Given the description of an element on the screen output the (x, y) to click on. 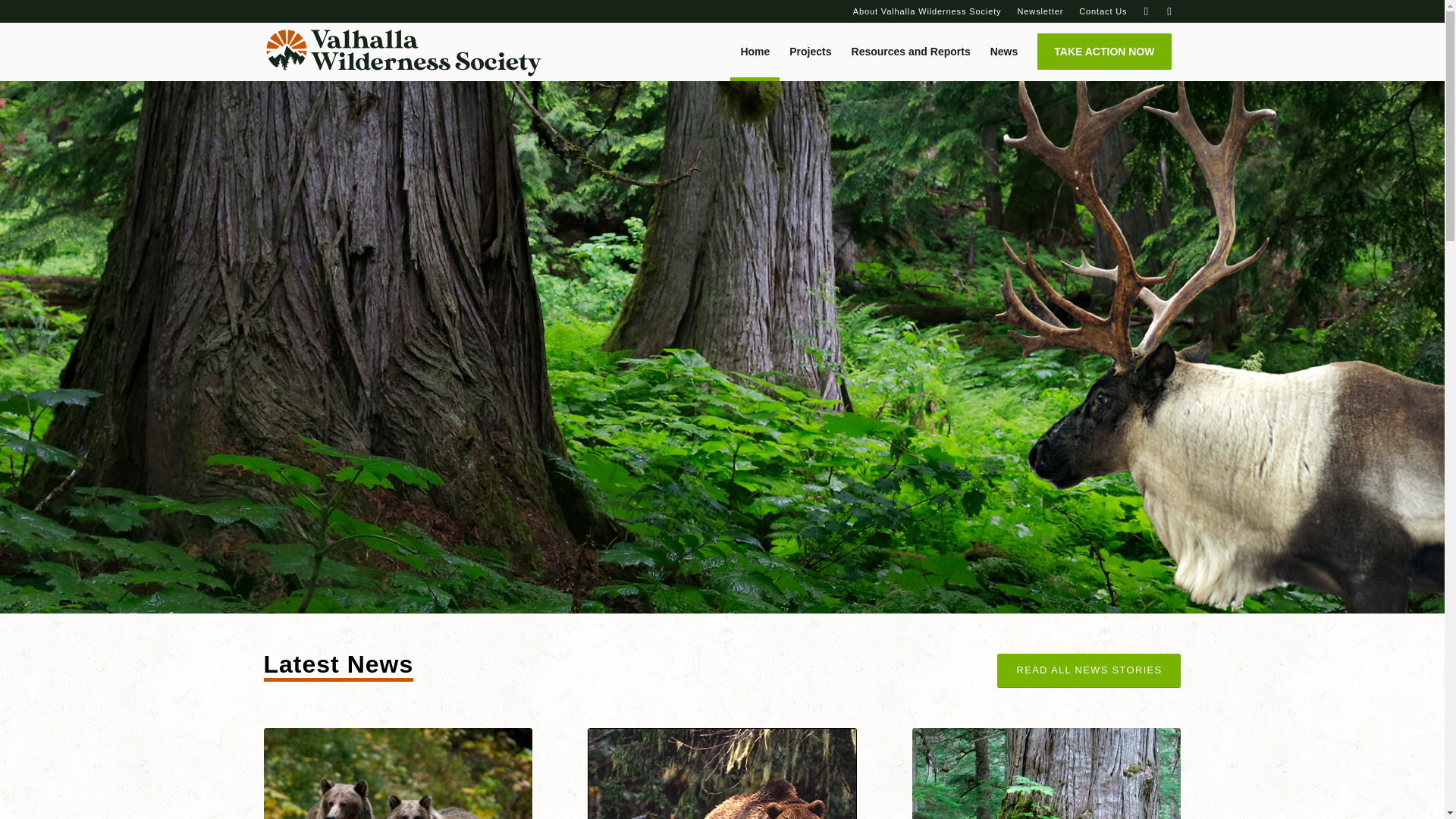
Home (754, 51)
About Valhalla Wilderness Society (927, 11)
READ ALL NEWS STORIES (1088, 670)
Newsletter (1040, 11)
TAKE ACTION NOW (1103, 51)
Projects (809, 51)
Contact Us (1102, 11)
Mail (1169, 11)
Facebook (1146, 11)
logo-4-1 (402, 51)
News (1003, 51)
Resources and Reports (910, 51)
